Given the description of an element on the screen output the (x, y) to click on. 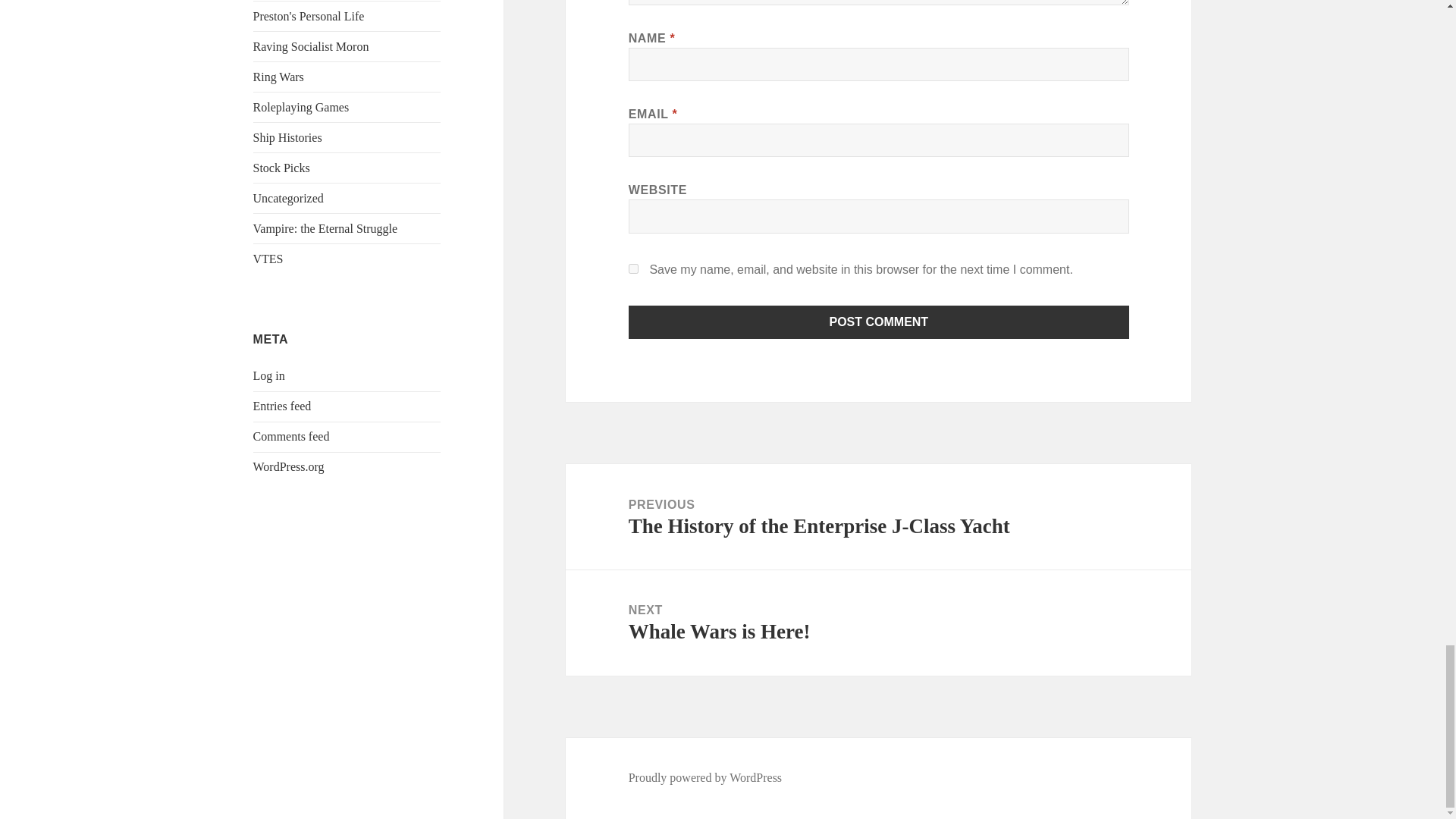
Post Comment (878, 322)
yes (633, 268)
